Given the description of an element on the screen output the (x, y) to click on. 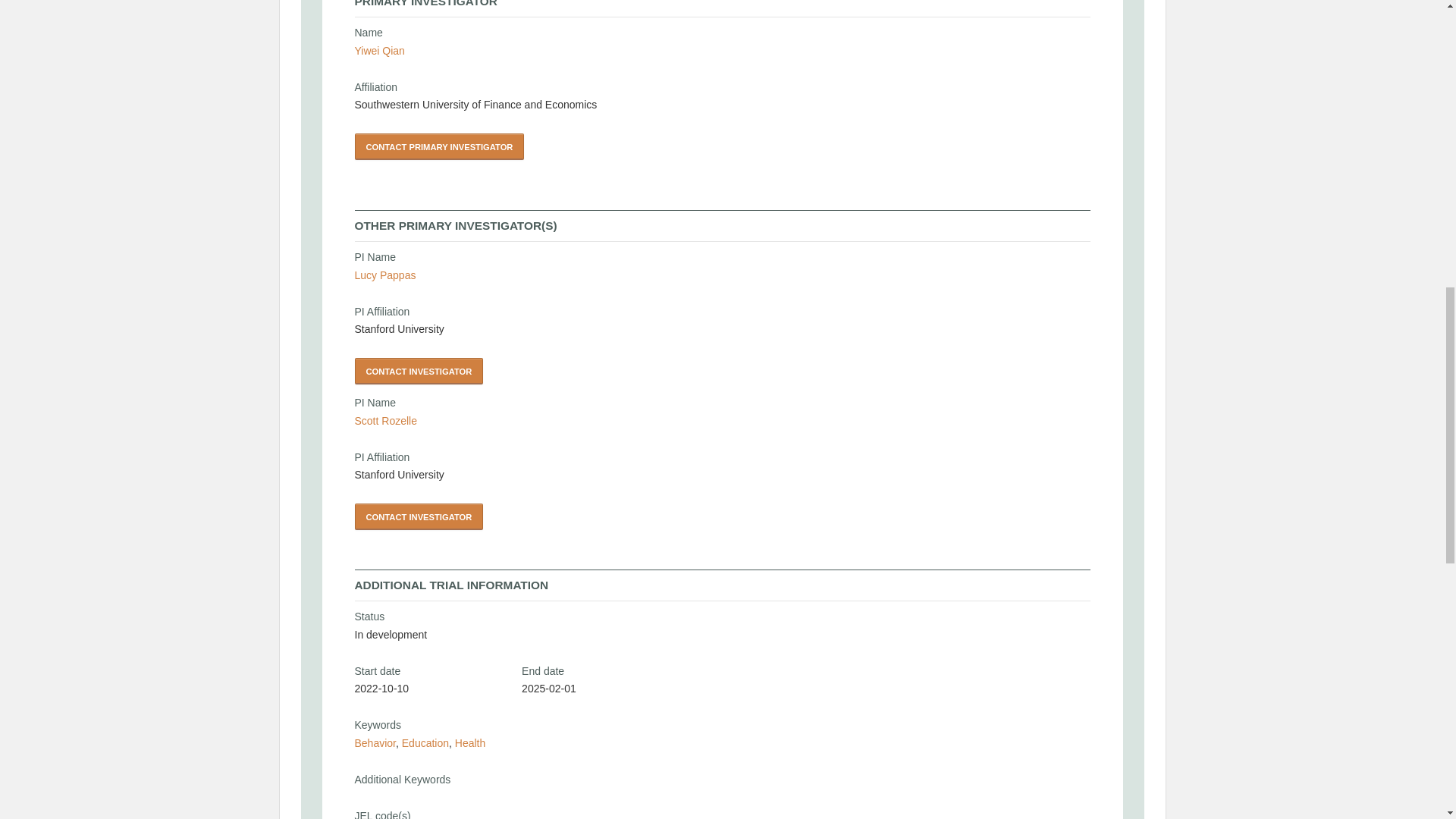
Scott Rozelle (385, 419)
CONTACT INVESTIGATOR (419, 516)
CONTACT PRIMARY INVESTIGATOR (439, 146)
Education (424, 743)
Lucy Pappas (385, 274)
CONTACT INVESTIGATOR (419, 370)
Behavior (375, 743)
Yiwei Qian (379, 50)
Health (469, 743)
